Given the description of an element on the screen output the (x, y) to click on. 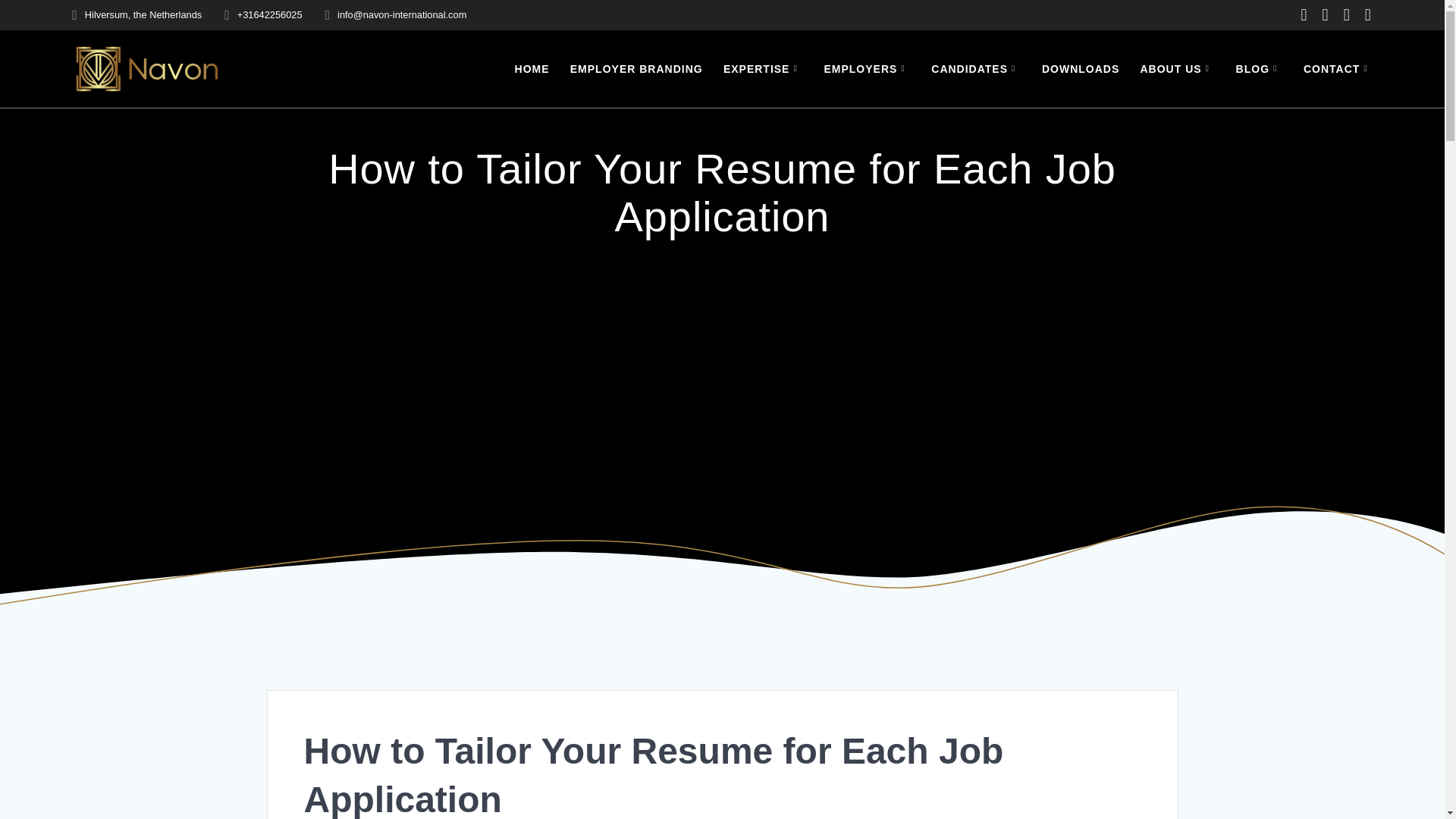
BLOG (1259, 68)
EXPERTISE (763, 68)
EMPLOYER BRANDING (636, 68)
EMPLOYERS (867, 68)
CANDIDATES (976, 68)
HOME (532, 68)
ABOUT US (1177, 68)
CONTACT (1338, 68)
DOWNLOADS (1080, 68)
